Given the description of an element on the screen output the (x, y) to click on. 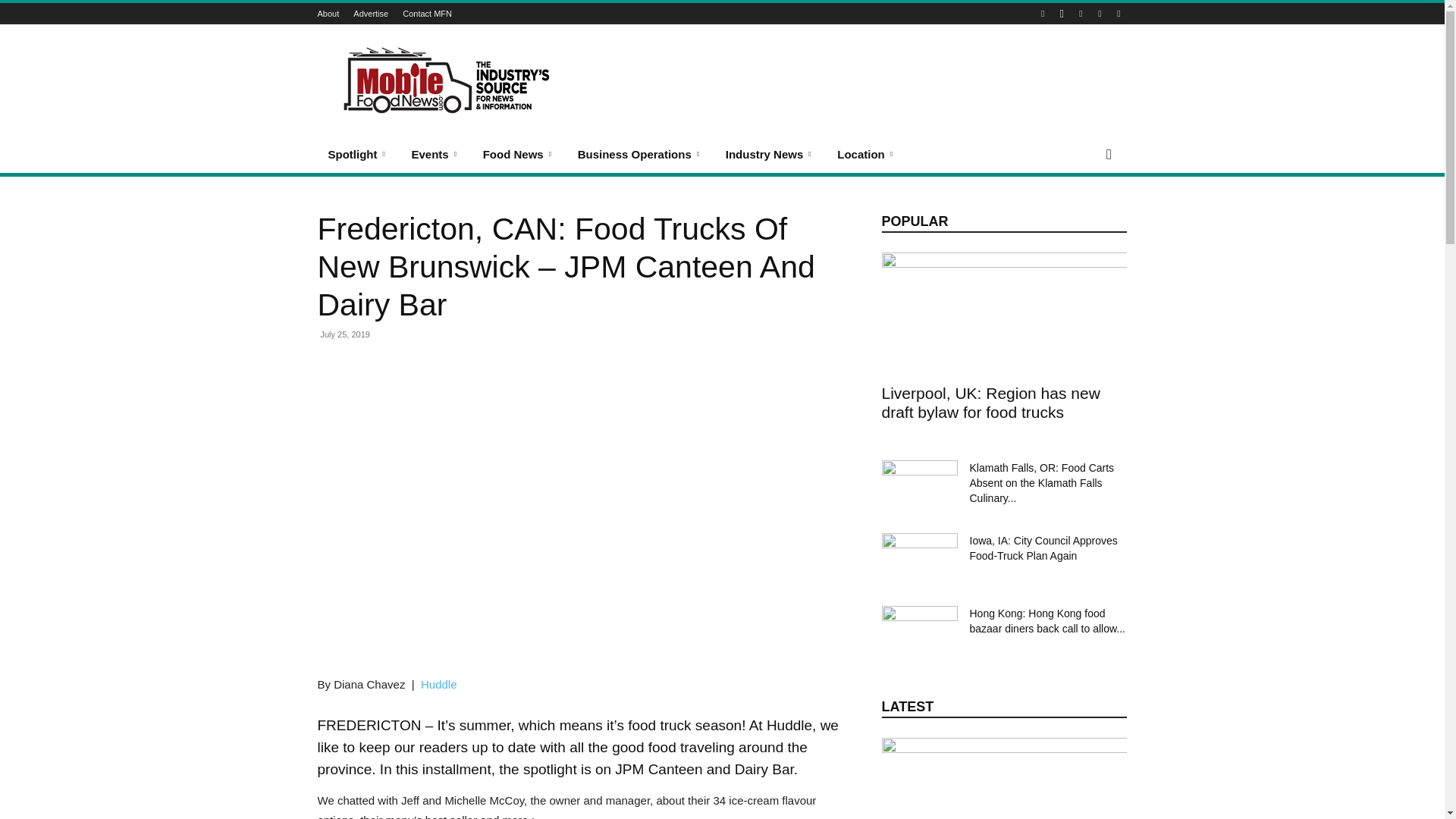
Advertise (370, 13)
About (328, 13)
Contact MFN (427, 13)
